Given the description of an element on the screen output the (x, y) to click on. 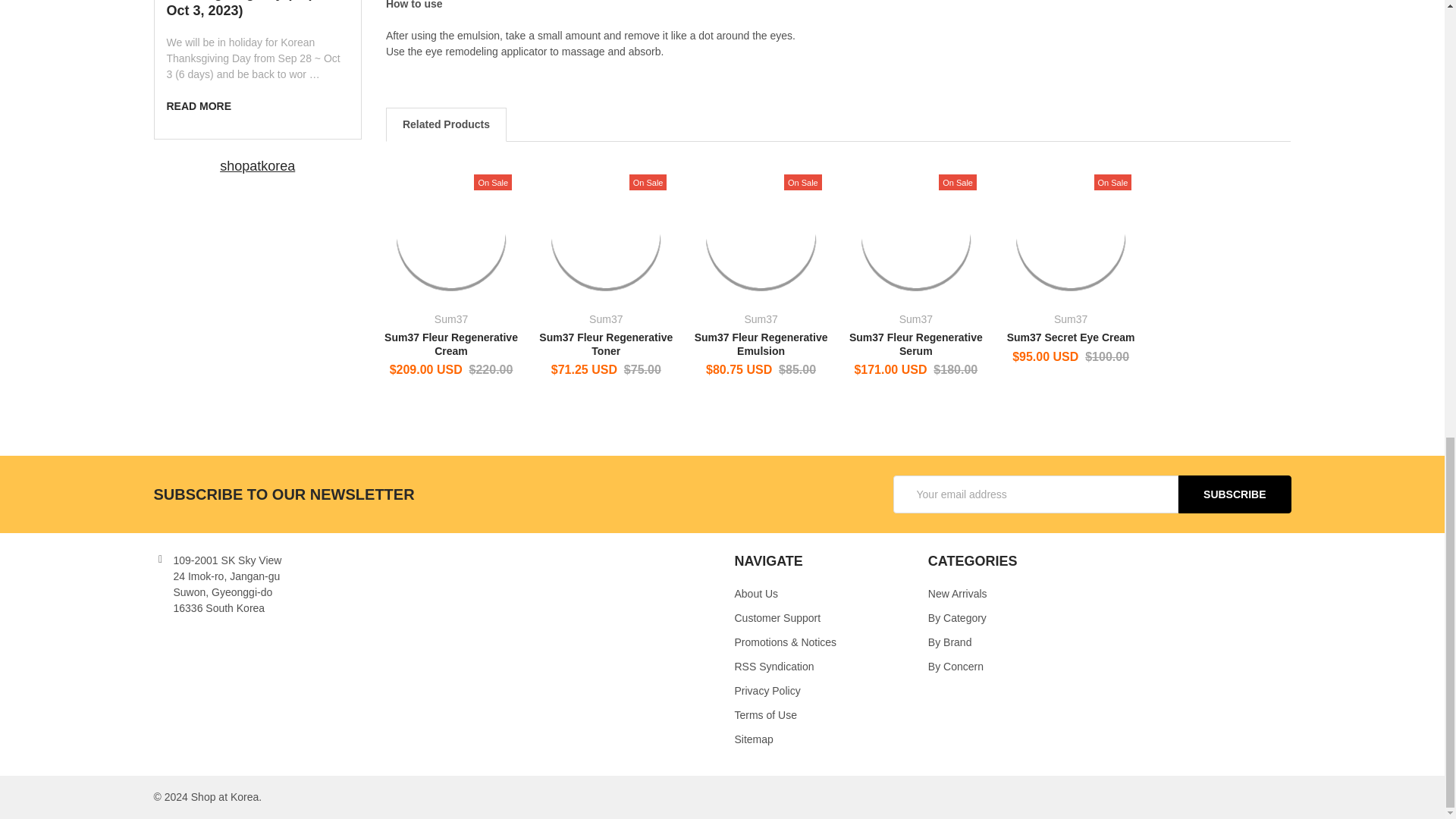
Sum37 Fleur Regenerative Toner (605, 235)
Sum Fleur Regenerative Emulsion (760, 235)
Sum37 Secret Eye Cream (1070, 235)
Sum37 Fleur Regenerative Cream (450, 235)
Sum37 Fleur Regenerative Serum (915, 235)
Subscribe (1233, 494)
